Given the description of an element on the screen output the (x, y) to click on. 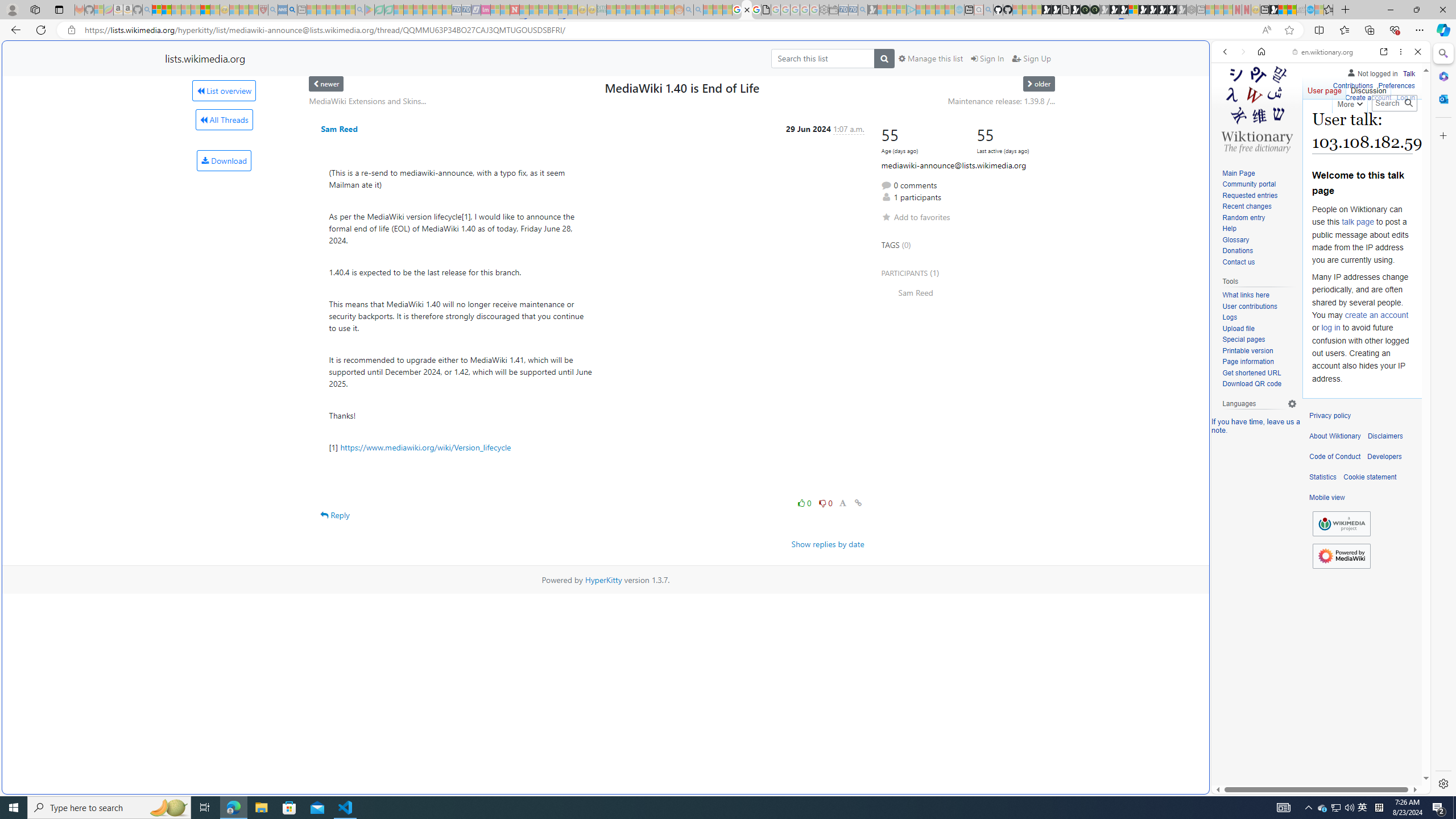
Sign in to your account (1133, 9)
Privacy policy (1329, 415)
Donations (1237, 250)
google_privacy_policy_zh-CN.pdf (1118, 683)
Mobile view (1326, 497)
User contributions (1248, 306)
Expert Portfolios - Sleeping (639, 9)
Show replies by date (827, 543)
